Given the description of an element on the screen output the (x, y) to click on. 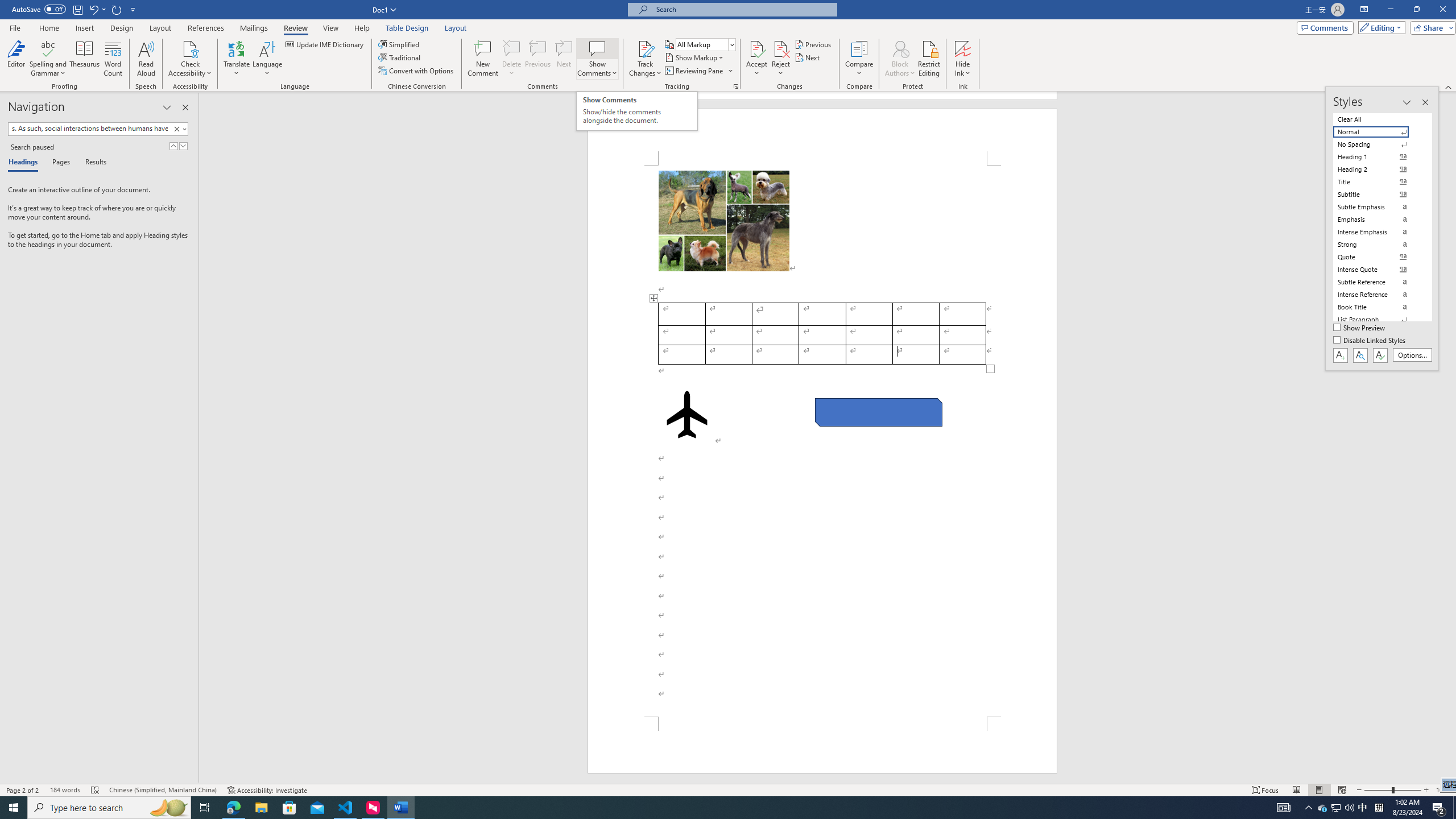
Microsoft search (742, 9)
Intense Emphasis (1377, 232)
Subtitle (1377, 194)
Accessibility Checker Accessibility: Investigate (266, 790)
Spelling and Grammar (48, 58)
Zoom (1392, 790)
Hide Ink (962, 58)
Update IME Dictionary... (324, 44)
Word Count 184 words (64, 790)
Track Changes (644, 58)
Next Result (183, 145)
